Given the description of an element on the screen output the (x, y) to click on. 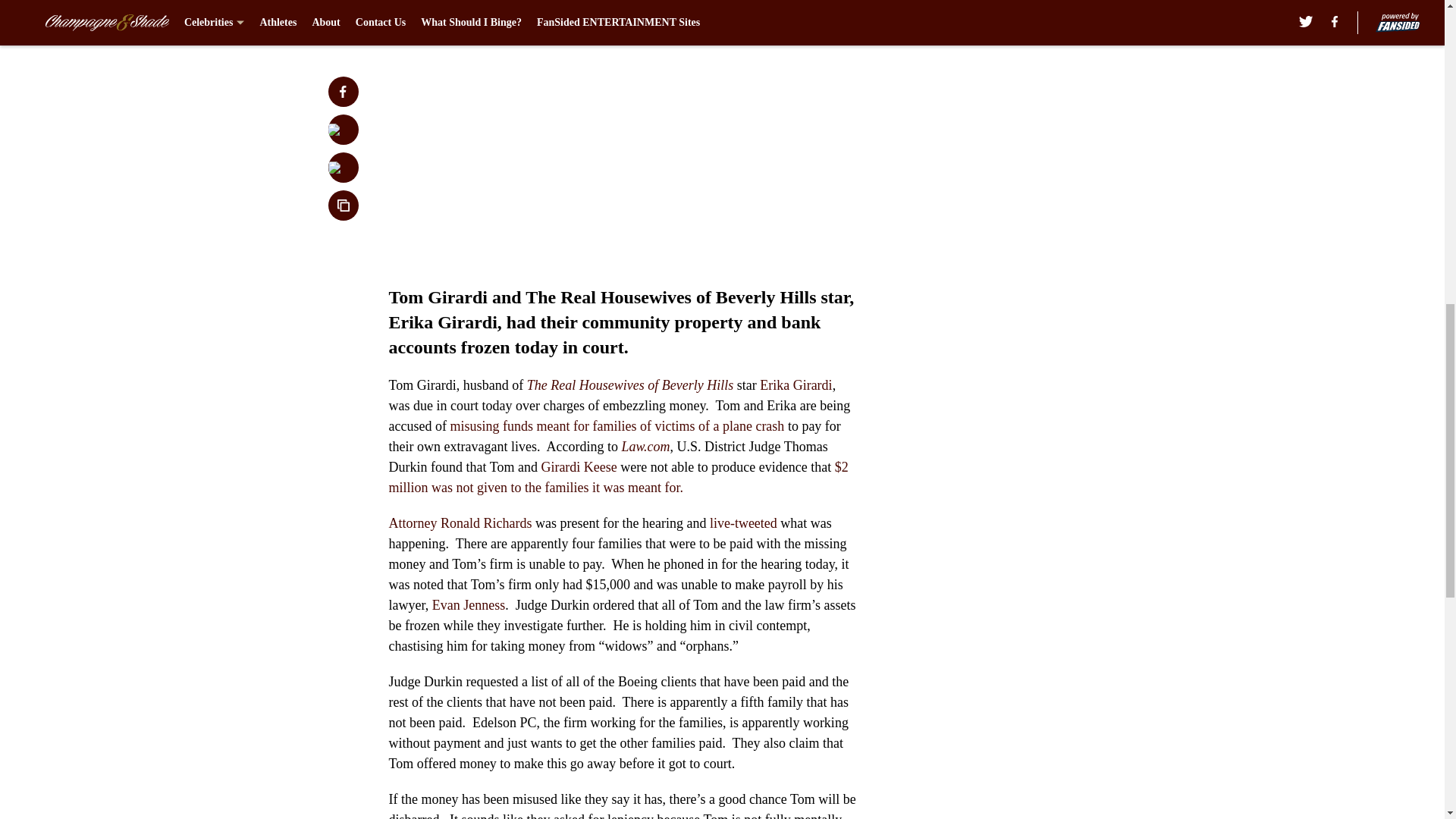
live-tweeted (741, 522)
Law.com (645, 446)
Evan Jenness (468, 604)
Attorney Ronald Richards (459, 522)
The Real Housewives of Beverly Hills (630, 385)
Girardi Keese (577, 467)
Erika Girardi (795, 385)
